Given the description of an element on the screen output the (x, y) to click on. 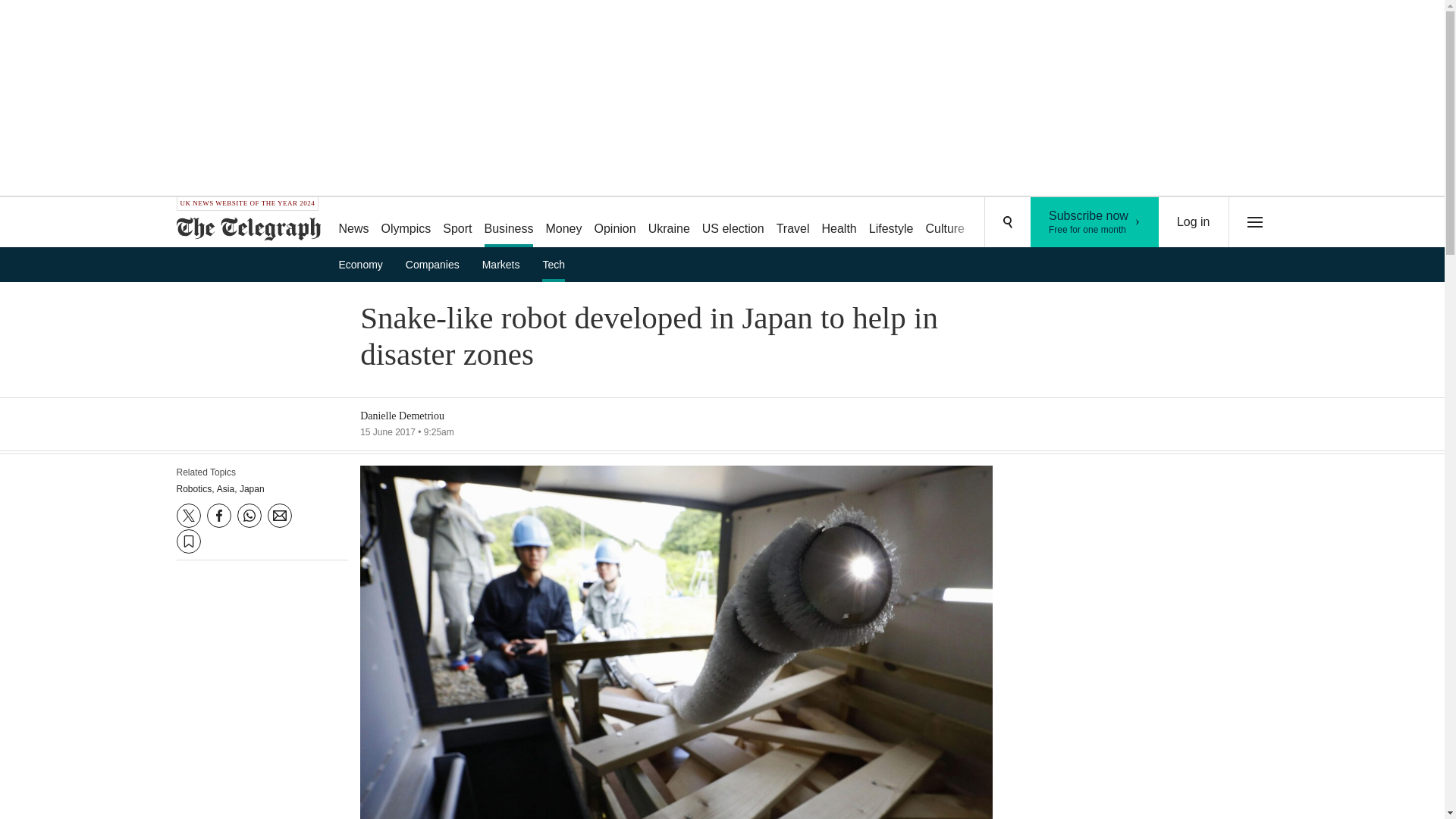
Puzzles (998, 223)
Olympics (406, 223)
Health (838, 223)
Business (509, 223)
Lifestyle (891, 223)
Money (563, 223)
Economy (364, 264)
Culture (944, 223)
US election (732, 223)
Opinion (615, 223)
Log in (1094, 222)
Podcasts (1193, 222)
Companies (1056, 223)
Ukraine (437, 264)
